Given the description of an element on the screen output the (x, y) to click on. 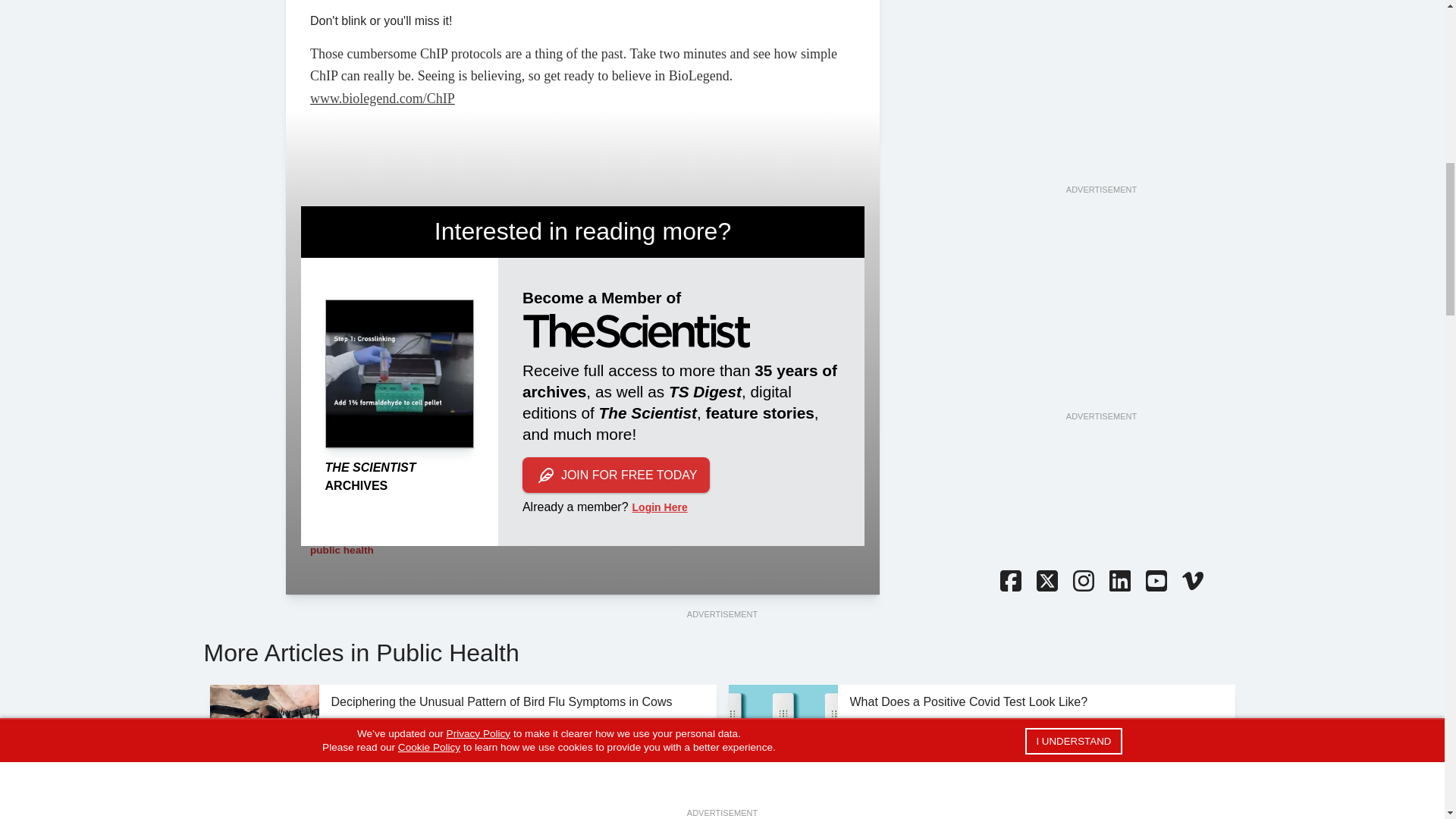
YouTube (1155, 581)
3rd party ad content (1100, 29)
Vimeo (1191, 581)
Facebook (1009, 581)
3rd party ad content (1100, 314)
LinkedIn (1118, 581)
Instagram (1082, 581)
Twitter (1045, 581)
